Given the description of an element on the screen output the (x, y) to click on. 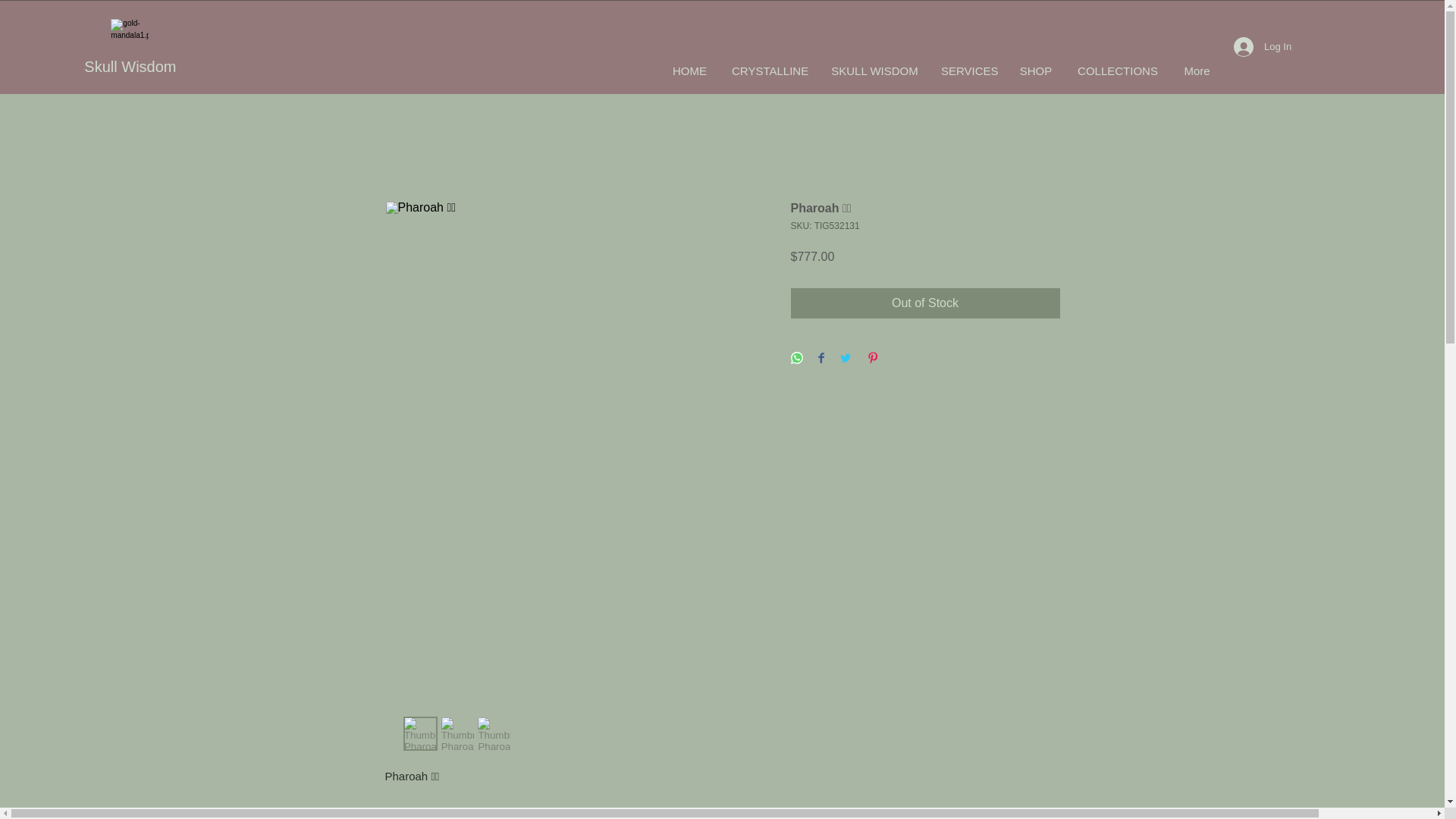
Log In (1255, 46)
SERVICES (968, 70)
Skull Wisdom (130, 66)
Out of Stock (924, 303)
SKULL WISDOM (874, 70)
CRYSTALLINE (769, 70)
SHOP (1035, 70)
COLLECTIONS (1117, 70)
HOME (689, 70)
